Given the description of an element on the screen output the (x, y) to click on. 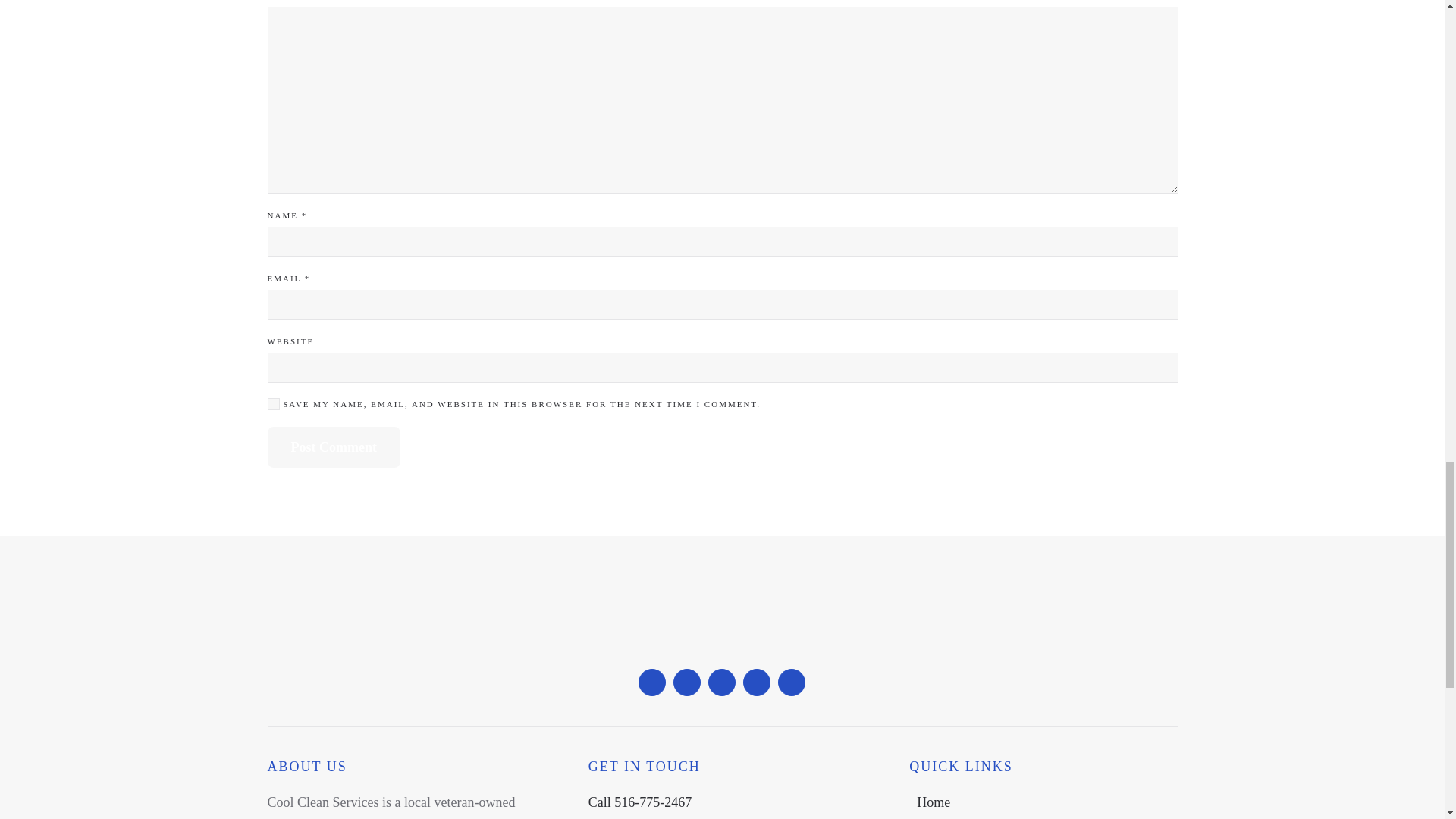
yes (272, 404)
